Given the description of an element on the screen output the (x, y) to click on. 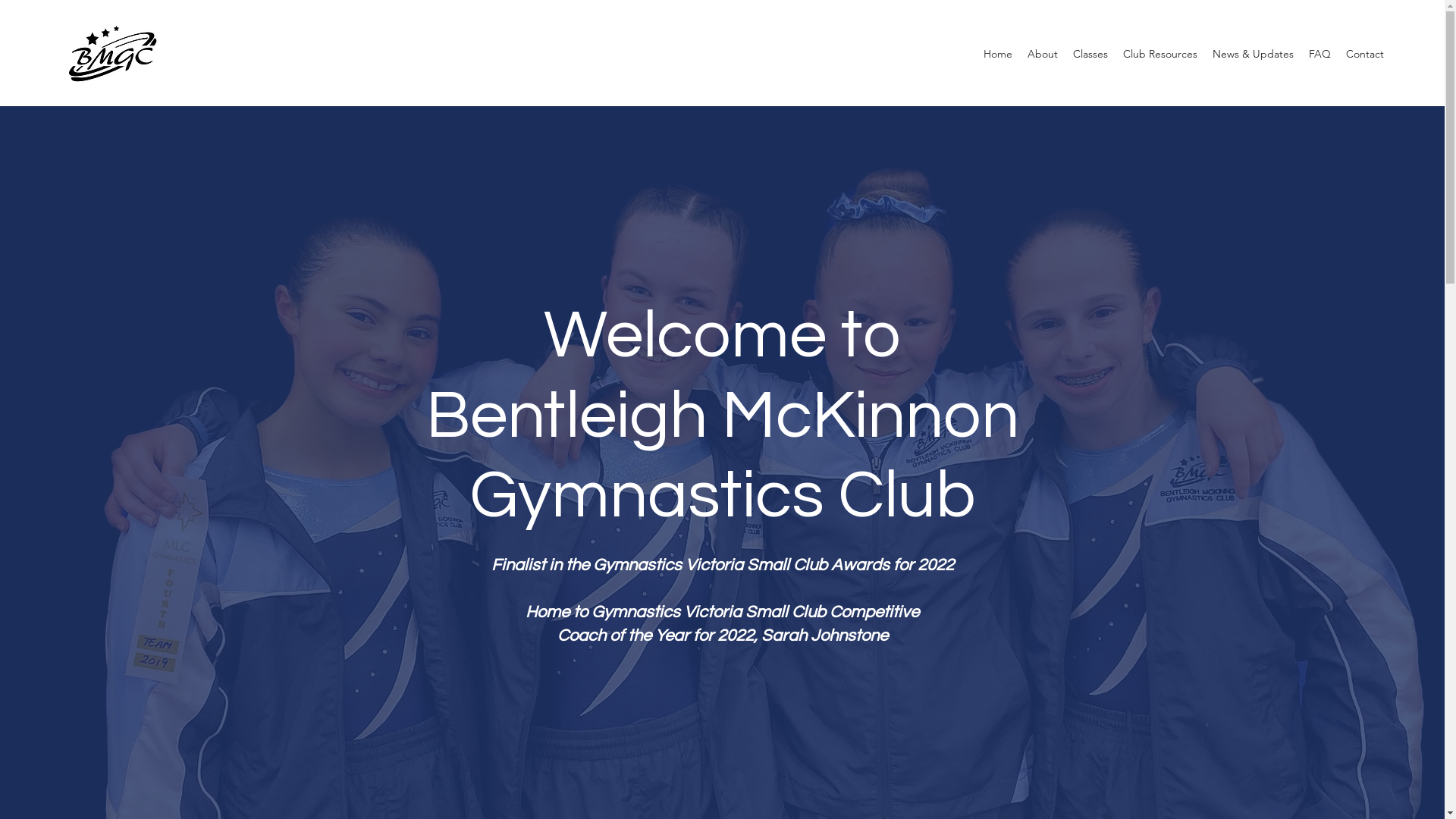
Classes Element type: text (1090, 53)
About Element type: text (1042, 53)
Contact Element type: text (1364, 53)
News & Updates Element type: text (1252, 53)
Club Resources Element type: text (1159, 53)
Home Element type: text (997, 53)
FAQ Element type: text (1319, 53)
